Given the description of an element on the screen output the (x, y) to click on. 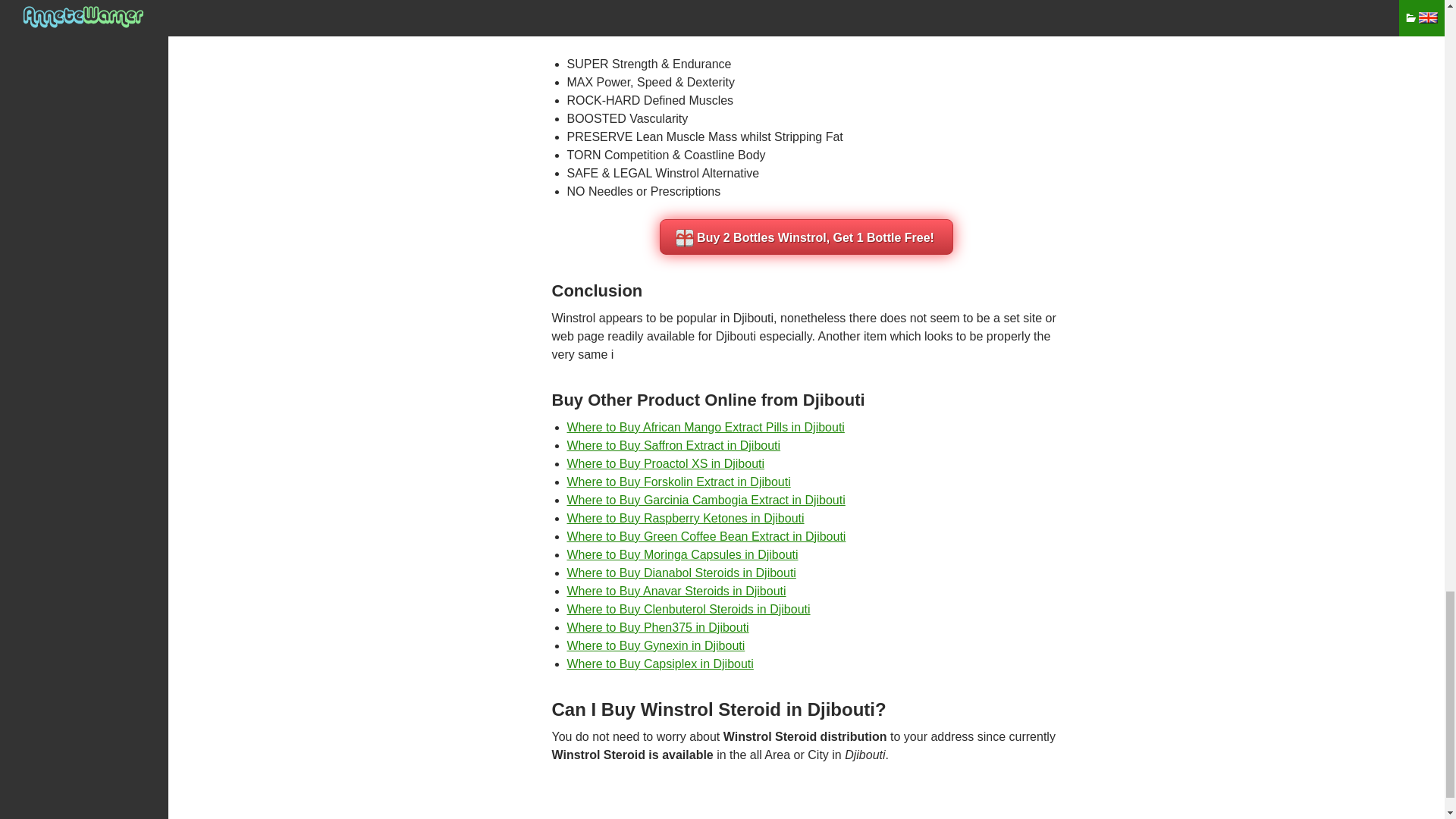
Buy anavar-steroids online Djibouti (676, 590)
Where to Buy Clenbuterol Steroids in Djibouti (688, 608)
Where to Buy Saffron Extract in Djibouti (673, 445)
Where to Buy Green Coffee Bean Extract in Djibouti (706, 535)
Buy gynexin online Djibouti (656, 645)
Where to Buy Dianabol Steroids in Djibouti (681, 572)
Buy forskolin online Djibouti (678, 481)
Buy clenbuterol-steroids online Djibouti (688, 608)
Buy moringa-capsules online Djibouti (682, 554)
Buy phen375 online Djibouti (658, 626)
